Given the description of an element on the screen output the (x, y) to click on. 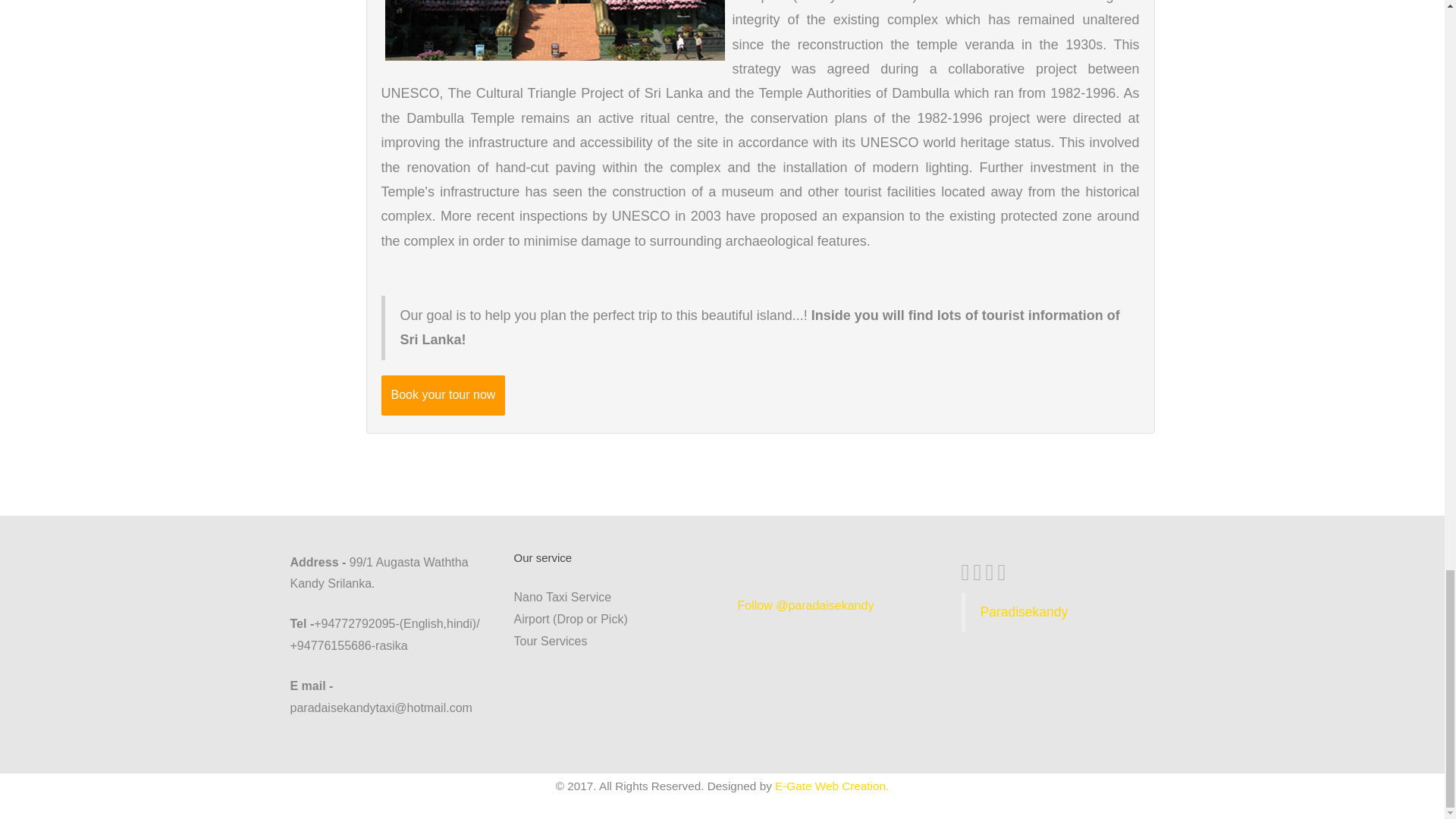
Paradisekandy (1023, 611)
E-Gate Web Creation. (831, 785)
Book your tour now (442, 395)
